Given the description of an element on the screen output the (x, y) to click on. 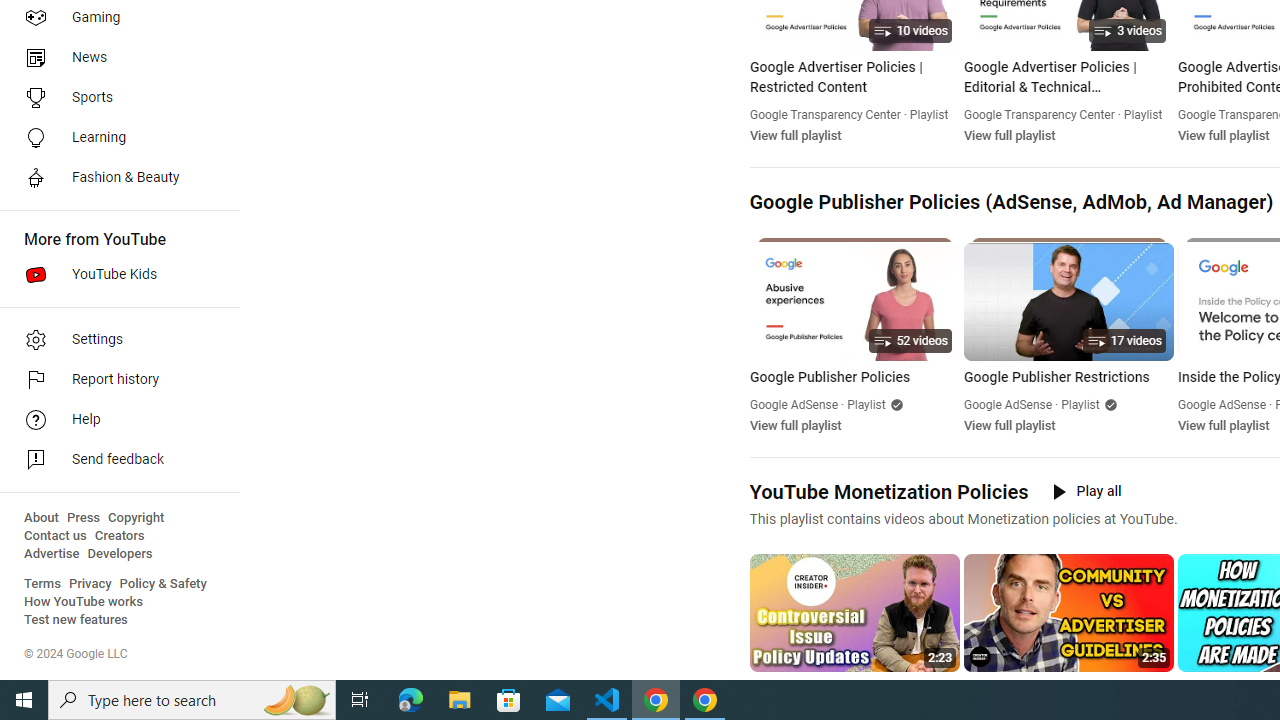
YouTube Monetization Policies (888, 492)
Google Publisher Policies (AdSense, AdMob, Ad Manager) (1010, 201)
Google Advertiser Policies | Restricted Content (854, 77)
